Given the description of an element on the screen output the (x, y) to click on. 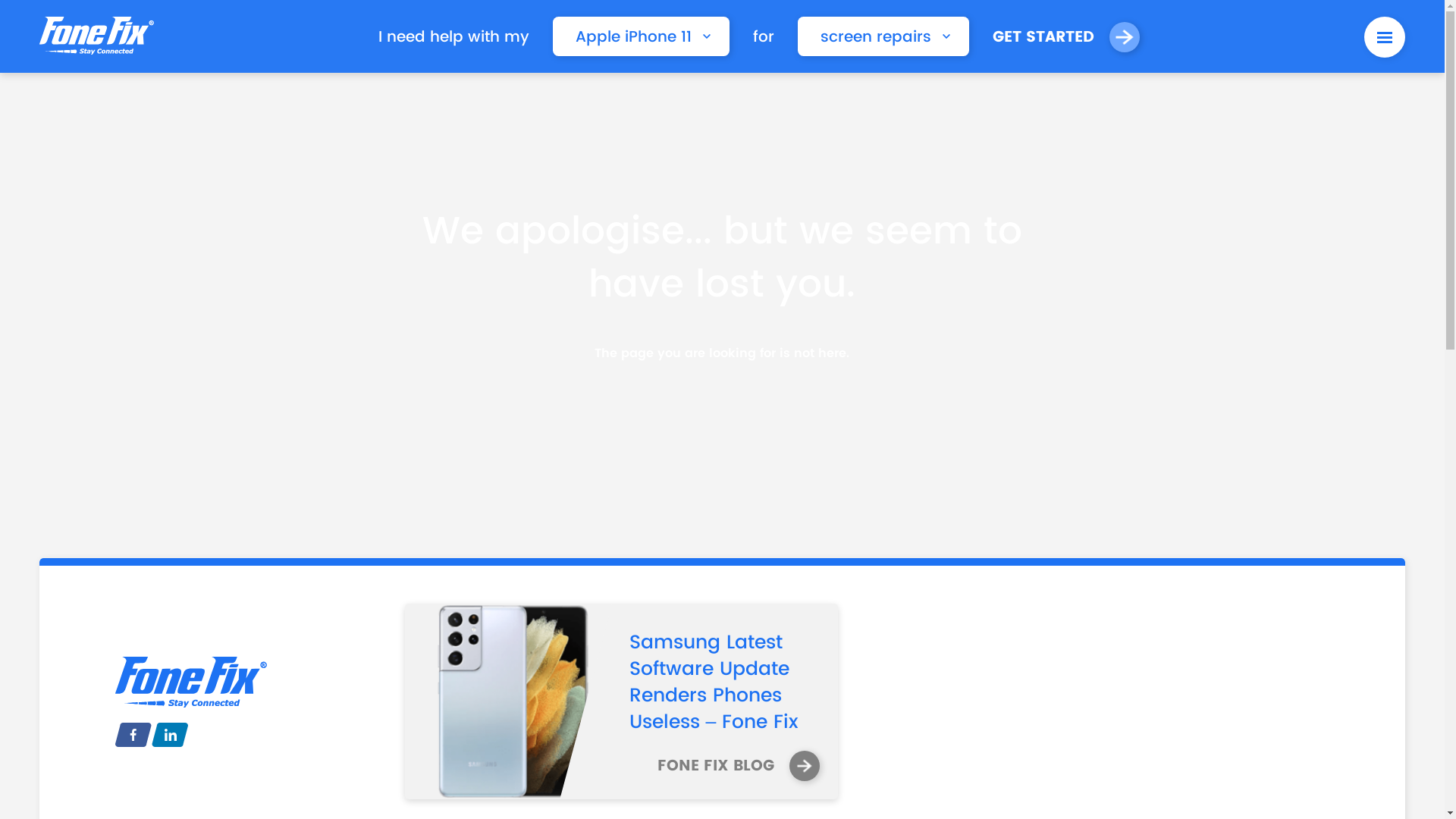
FONE FIX BLOG Element type: text (738, 765)
GET STARTED Element type: text (1065, 36)
